Given the description of an element on the screen output the (x, y) to click on. 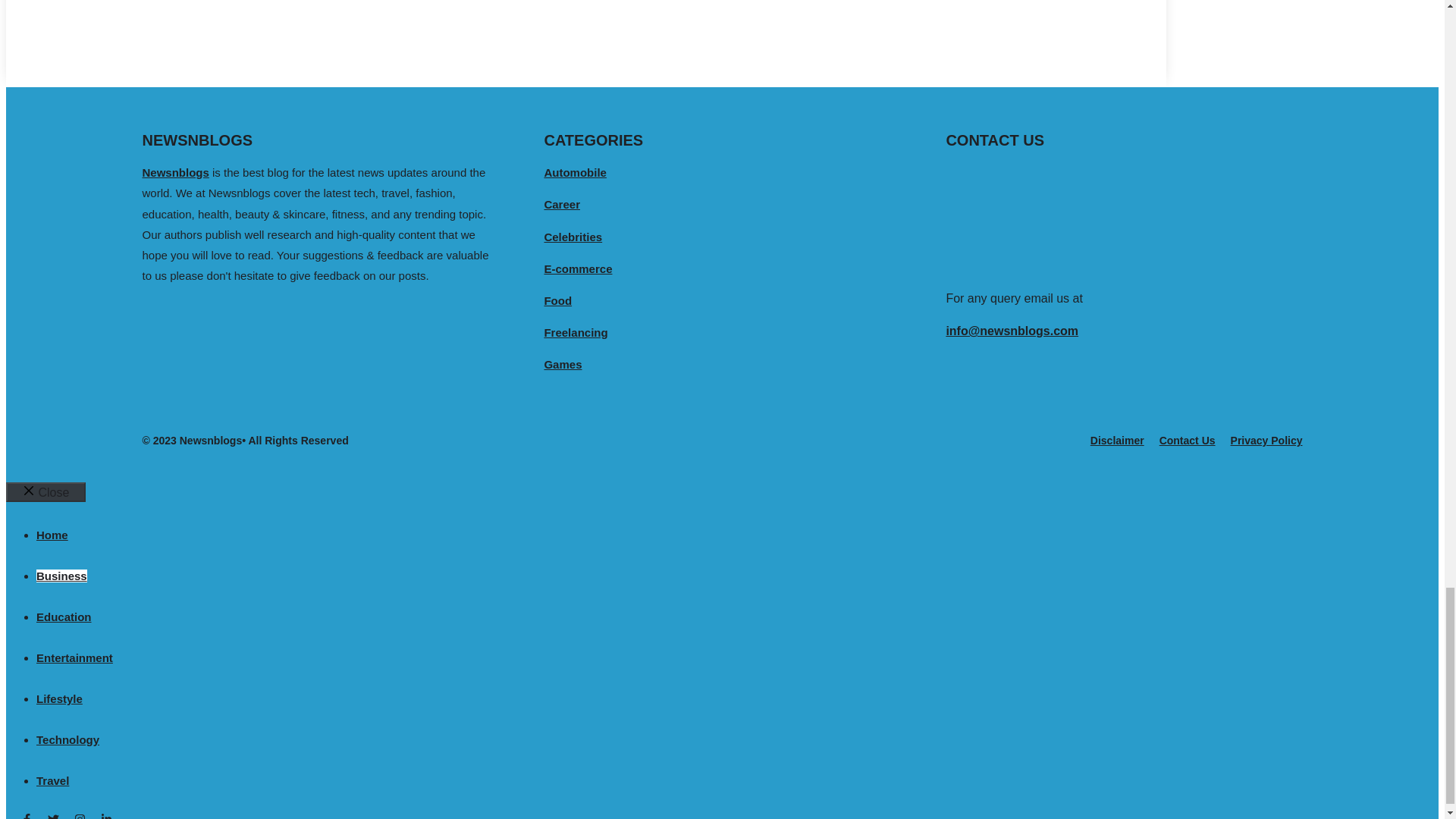
Career (561, 204)
Celebrities (572, 236)
Automobile (575, 172)
E-commerce (577, 268)
Newsnblogs (175, 172)
